Given the description of an element on the screen output the (x, y) to click on. 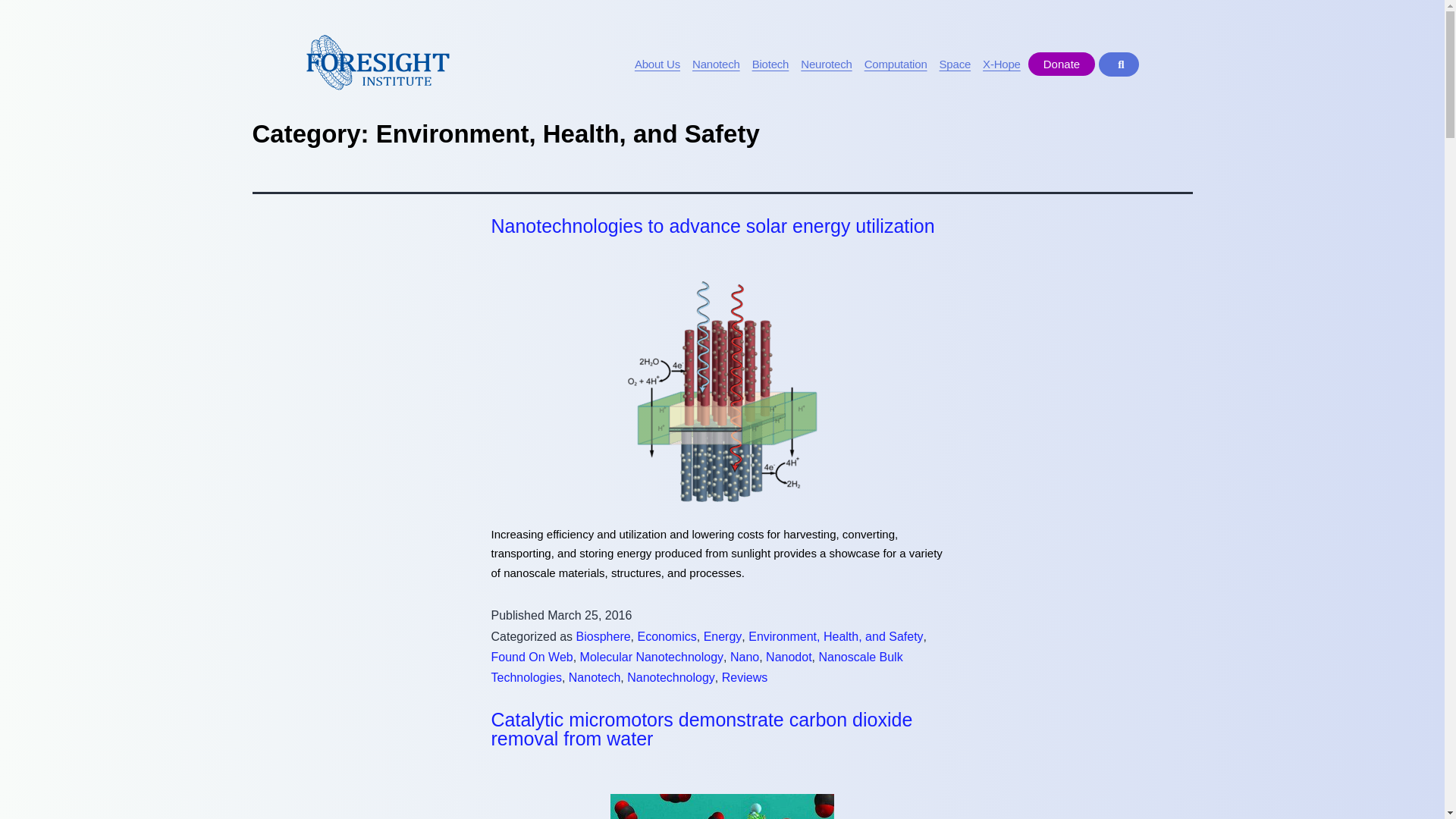
Environment, Health, and Safety (835, 635)
Space (955, 64)
Donate (1060, 64)
Economics (666, 635)
Biotech (770, 64)
Energy (722, 635)
Computation (895, 64)
X-Hope (1001, 64)
Nanotech (716, 64)
Nanotechnologies to advance solar energy utilization (713, 225)
Biosphere (603, 635)
About Us (657, 64)
Found On Web (532, 656)
Neurotech (826, 64)
